Given the description of an element on the screen output the (x, y) to click on. 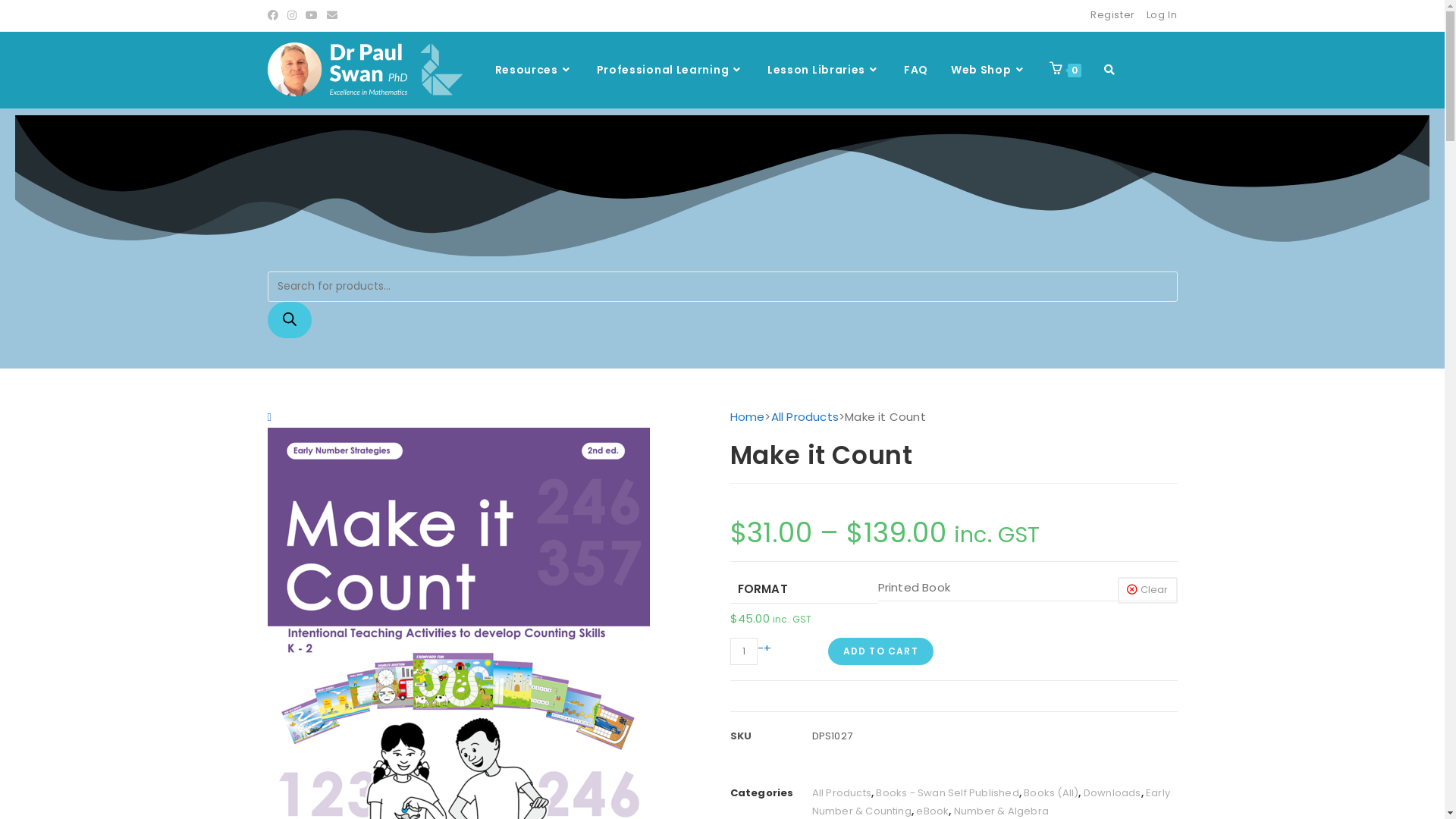
0 Element type: text (1065, 69)
Resources Element type: text (534, 69)
- Element type: text (759, 647)
Home Element type: text (746, 416)
FAQ Element type: text (915, 69)
Clear Element type: text (1147, 590)
All Products Element type: text (804, 416)
Professional Learning Element type: text (670, 69)
Register Element type: text (1112, 15)
Lesson Libraries Element type: text (824, 69)
Web Shop Element type: text (988, 69)
Books - Swan Self Published Element type: text (946, 792)
Log In Element type: text (1161, 15)
Books (All) Element type: text (1050, 792)
Downloads Element type: text (1112, 792)
Number & Algebra Element type: text (1000, 810)
+ Element type: text (767, 647)
All Products Element type: text (840, 792)
eBook Element type: text (932, 810)
ADD TO CART Element type: text (880, 651)
